Given the description of an element on the screen output the (x, y) to click on. 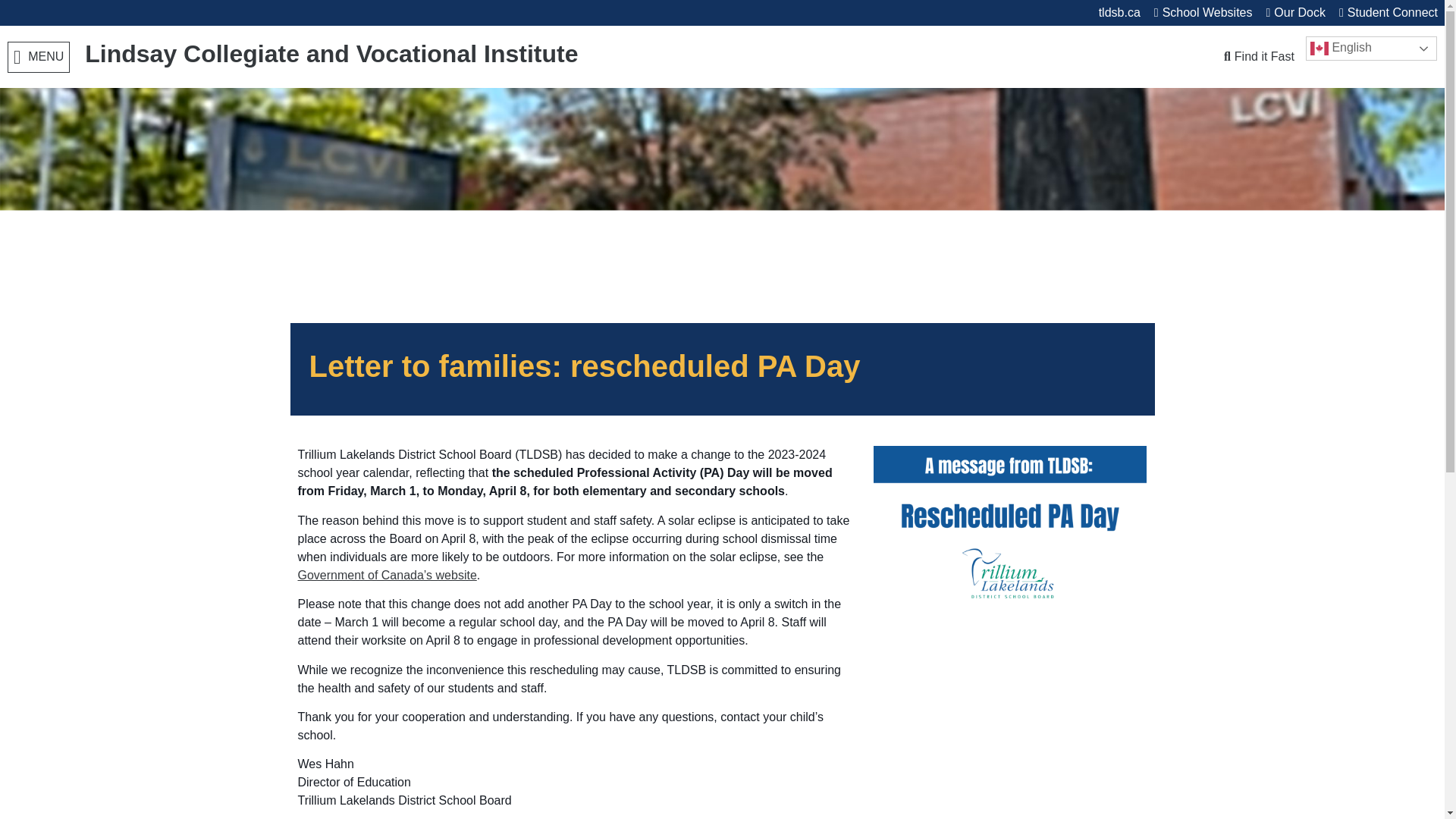
tldsb.ca (1119, 12)
Find it Fast (1259, 56)
School Websites (1203, 12)
Lindsay Collegiate and Vocational Institute (331, 53)
Our Dock (1295, 12)
